Given the description of an element on the screen output the (x, y) to click on. 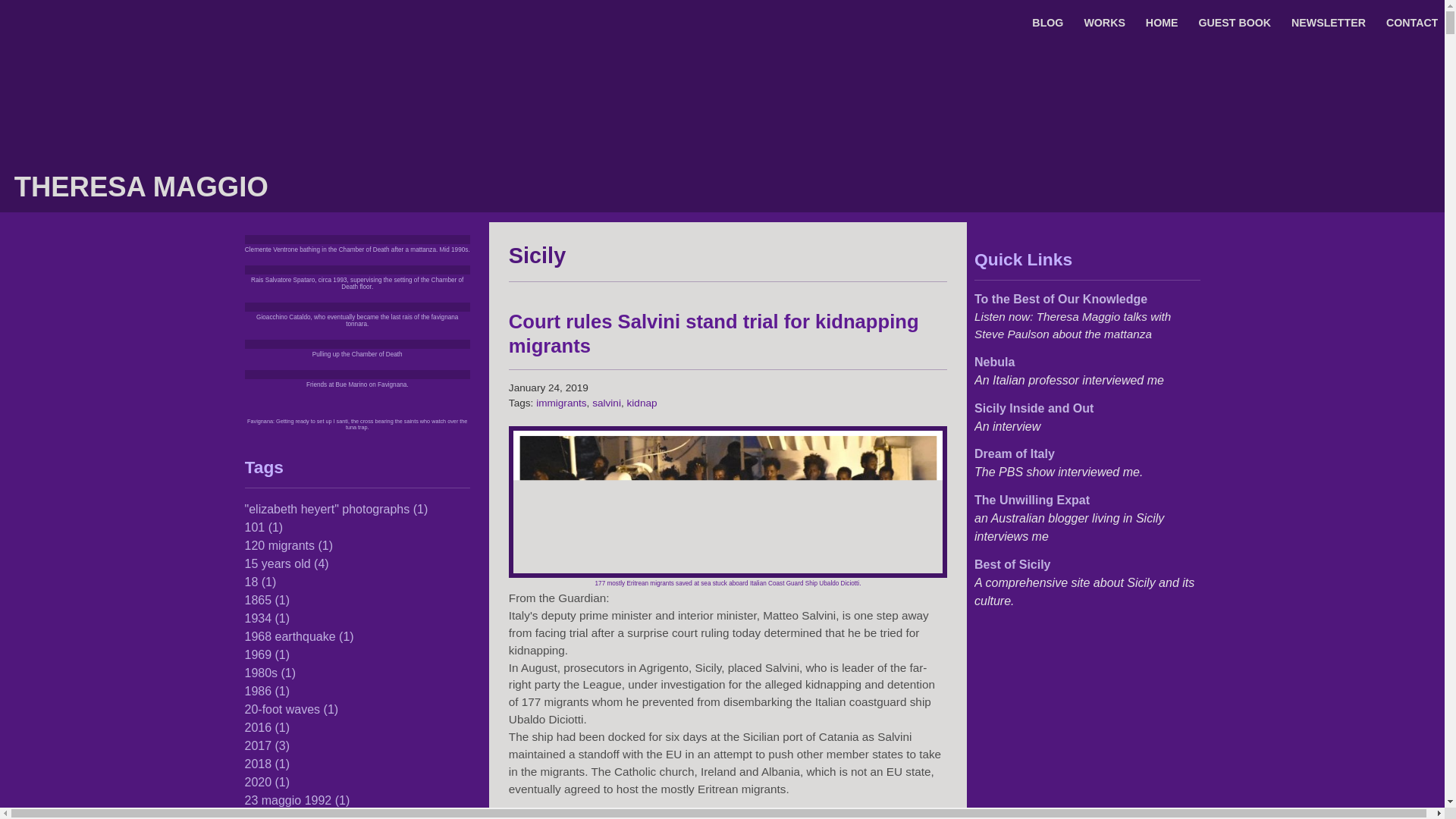
NEWSLETTER (1328, 22)
CONTACT (1412, 22)
BLOG (1047, 22)
Friends at Bue Marino on Favignana. (357, 384)
WORKS (1104, 22)
Pulling up the Chamber of Death (358, 354)
